Given the description of an element on the screen output the (x, y) to click on. 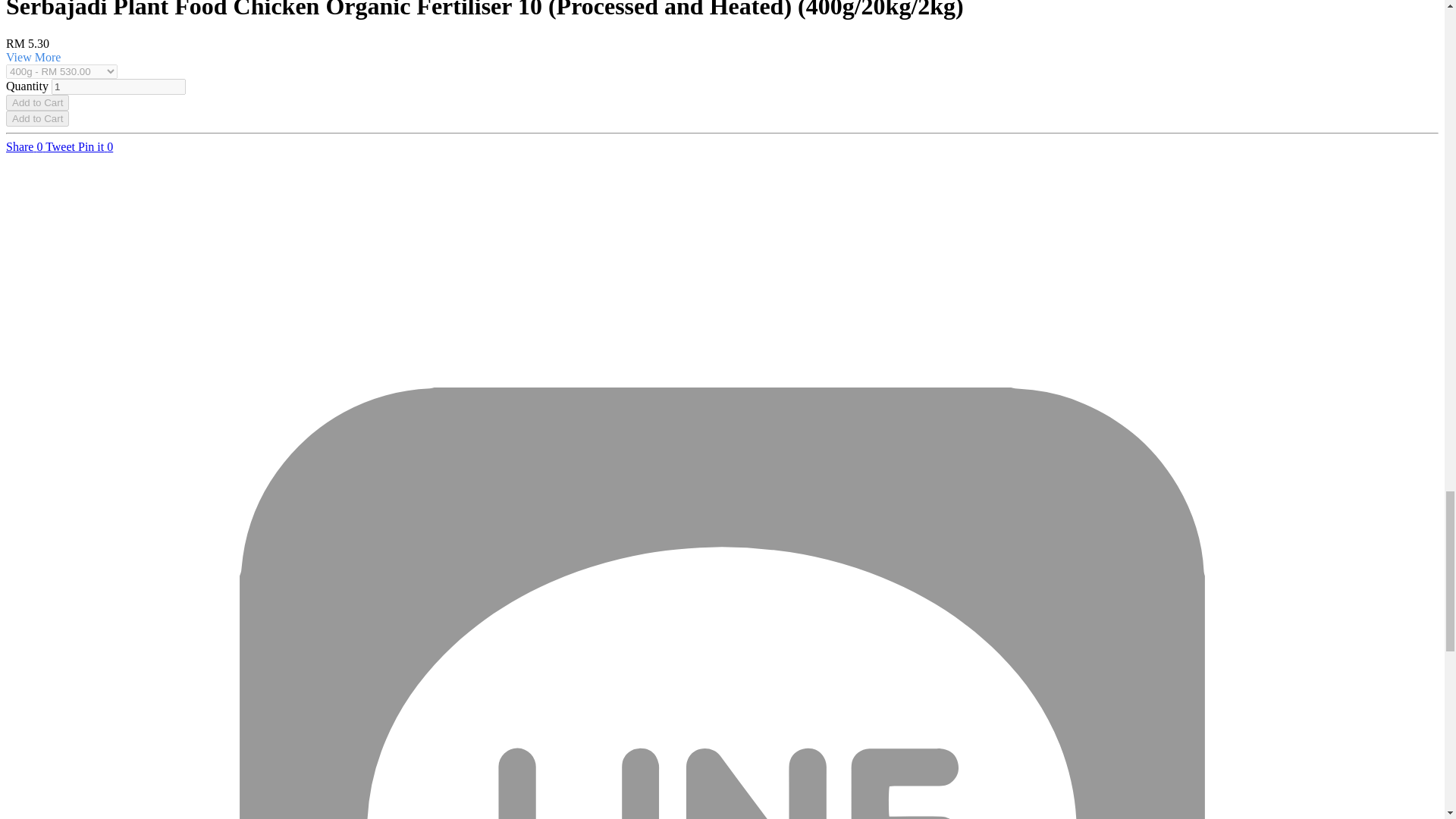
1 (118, 86)
